Given the description of an element on the screen output the (x, y) to click on. 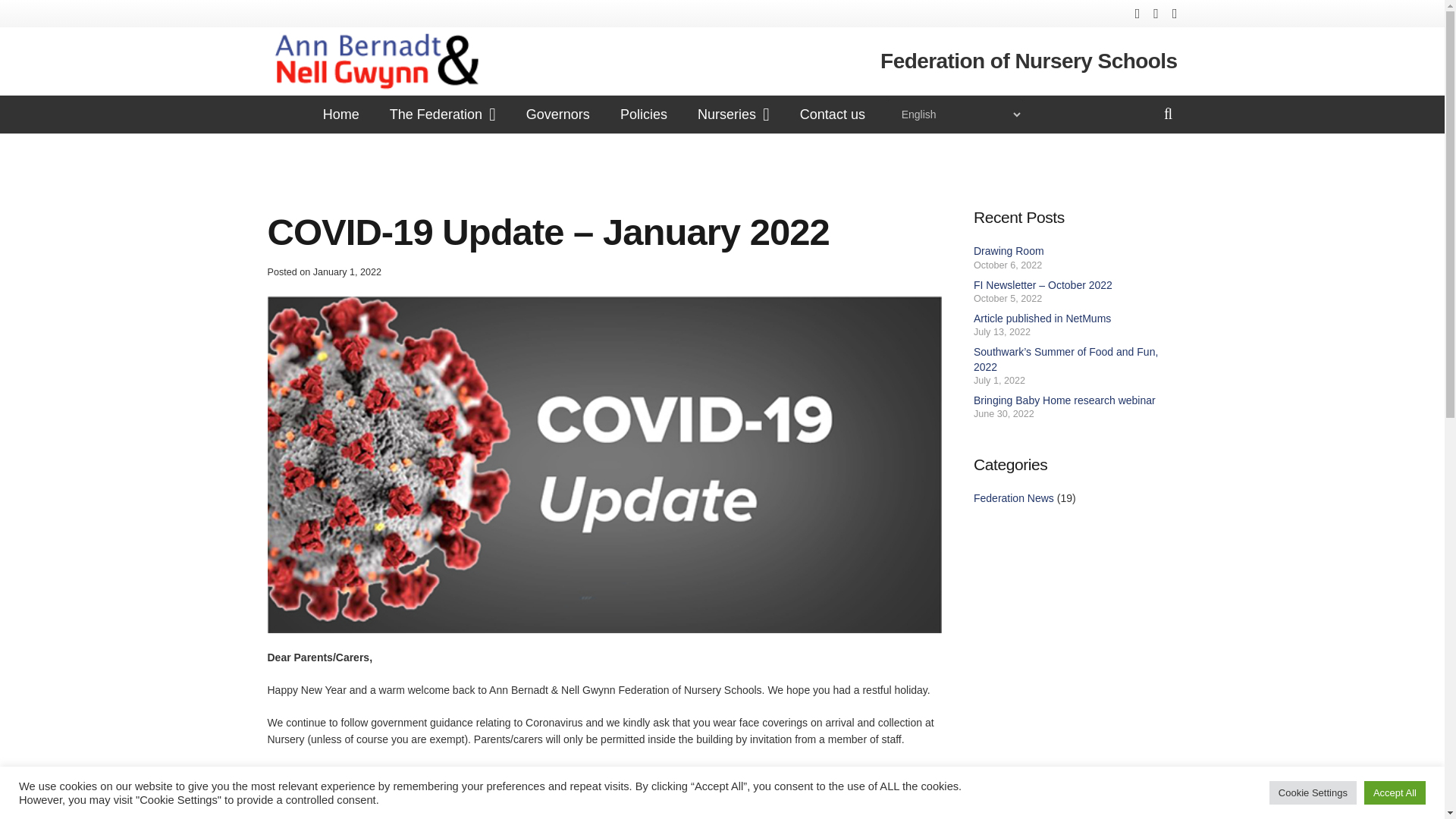
Twitter (970, 666)
Governors (558, 114)
YouTube (1015, 666)
Article published in NetMums (1042, 318)
Drawing Room (1008, 250)
Contact us (832, 114)
Twitter (1155, 13)
The Federation (442, 114)
YouTube (1174, 13)
Home (340, 114)
Facebook (1137, 13)
Facebook (926, 666)
Nurseries (733, 114)
Policies (643, 114)
